Given the description of an element on the screen output the (x, y) to click on. 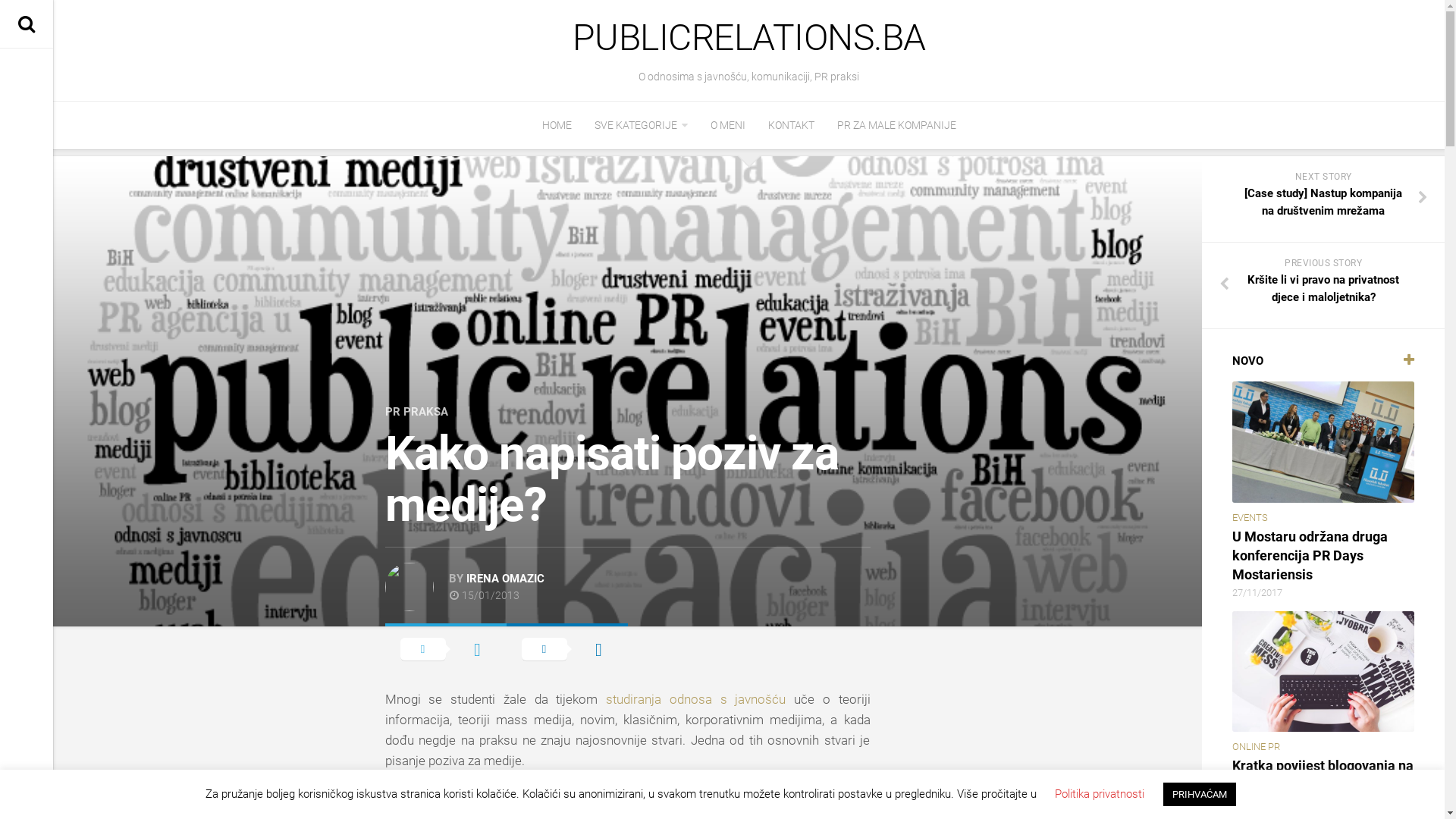
ONLINE PR Element type: text (1256, 746)
EVENTS Element type: text (1249, 517)
KONTAKT Element type: text (790, 124)
IRENA OMAZIC Element type: text (504, 578)
Kratka povijest blogovanja na Balkanu Element type: text (1322, 774)
SVE KATEGORIJE Element type: text (640, 124)
Politika privatnosti Element type: text (1098, 793)
PR PRAKSA Element type: text (416, 411)
PR ZA MALE KOMPANIJE Element type: text (896, 124)
PUBLICRELATIONS.BA Element type: text (748, 37)
HOME Element type: text (556, 124)
O MENI Element type: text (726, 124)
